Given the description of an element on the screen output the (x, y) to click on. 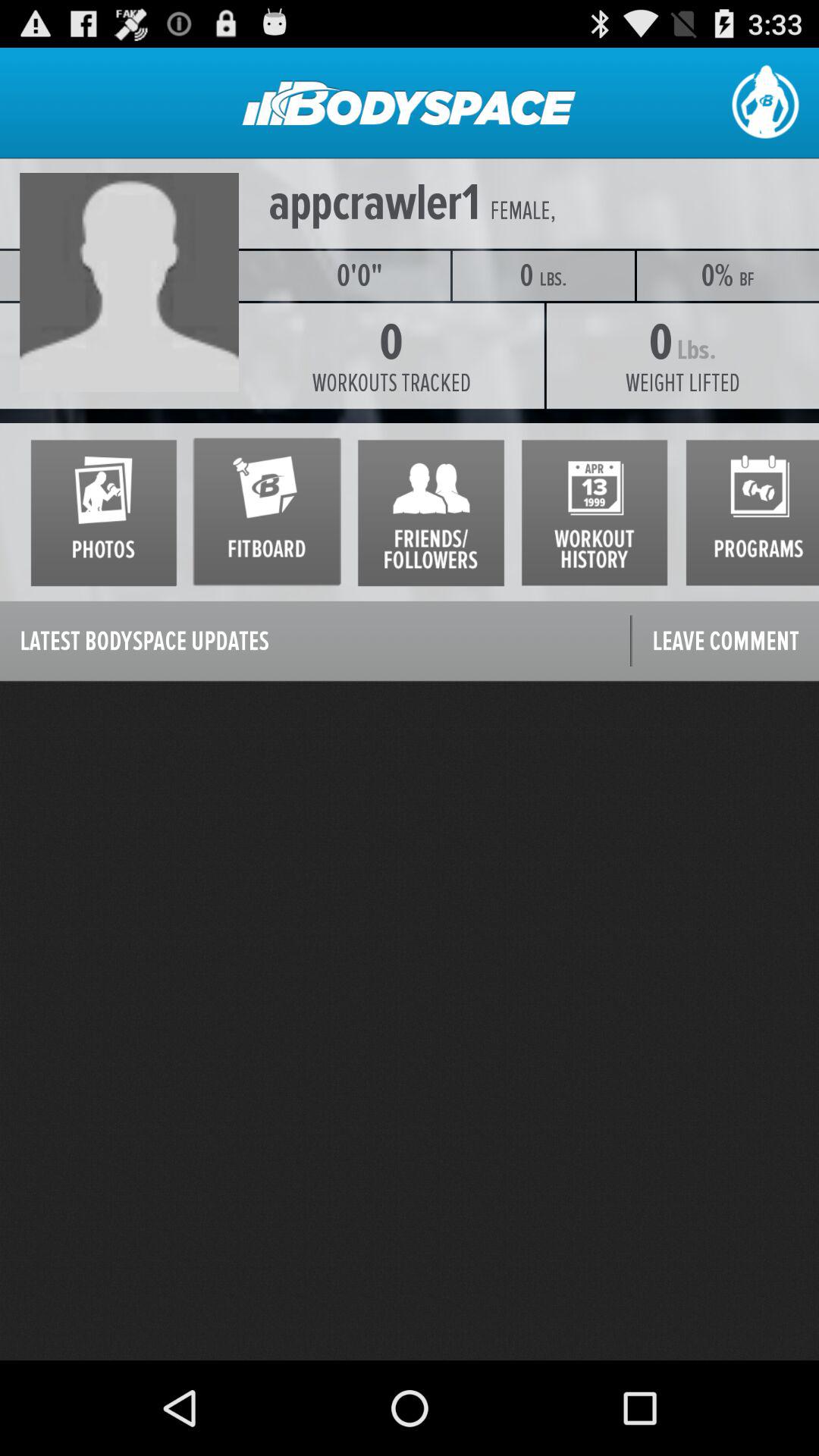
swipe until bf (746, 279)
